Given the description of an element on the screen output the (x, y) to click on. 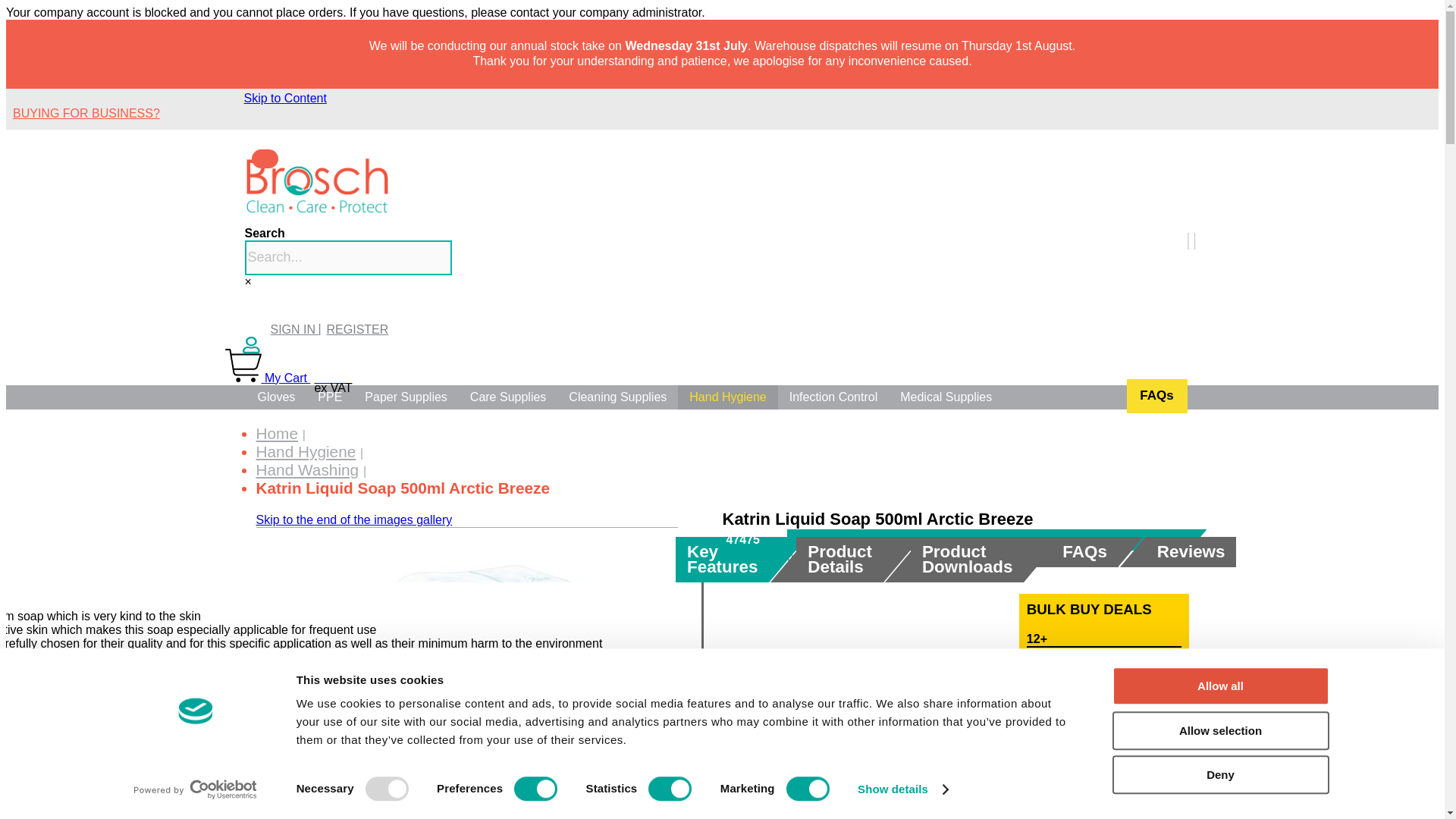
1 (1160, 766)
BUYING FOR BUSINESS? (86, 113)
Show details (902, 789)
